Given the description of an element on the screen output the (x, y) to click on. 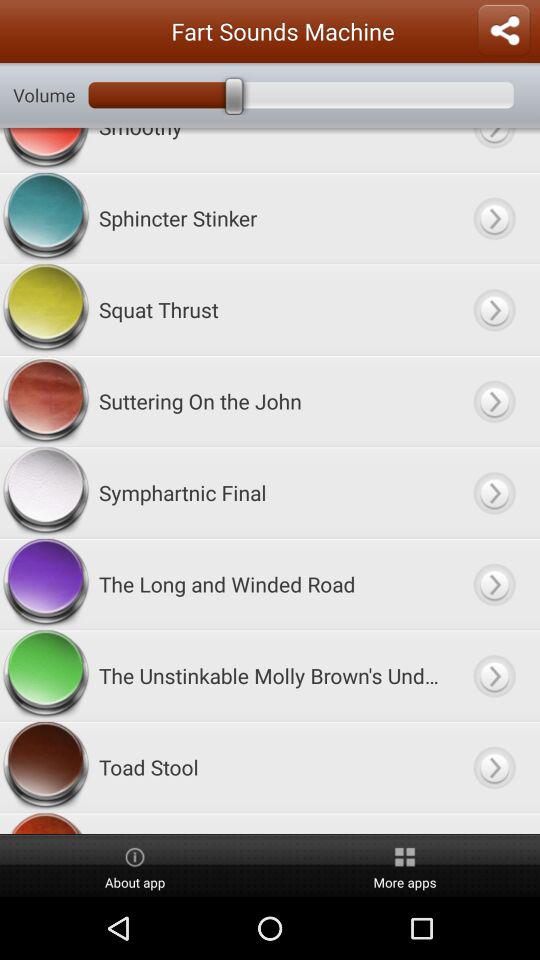
select squat thrust (494, 309)
